Given the description of an element on the screen output the (x, y) to click on. 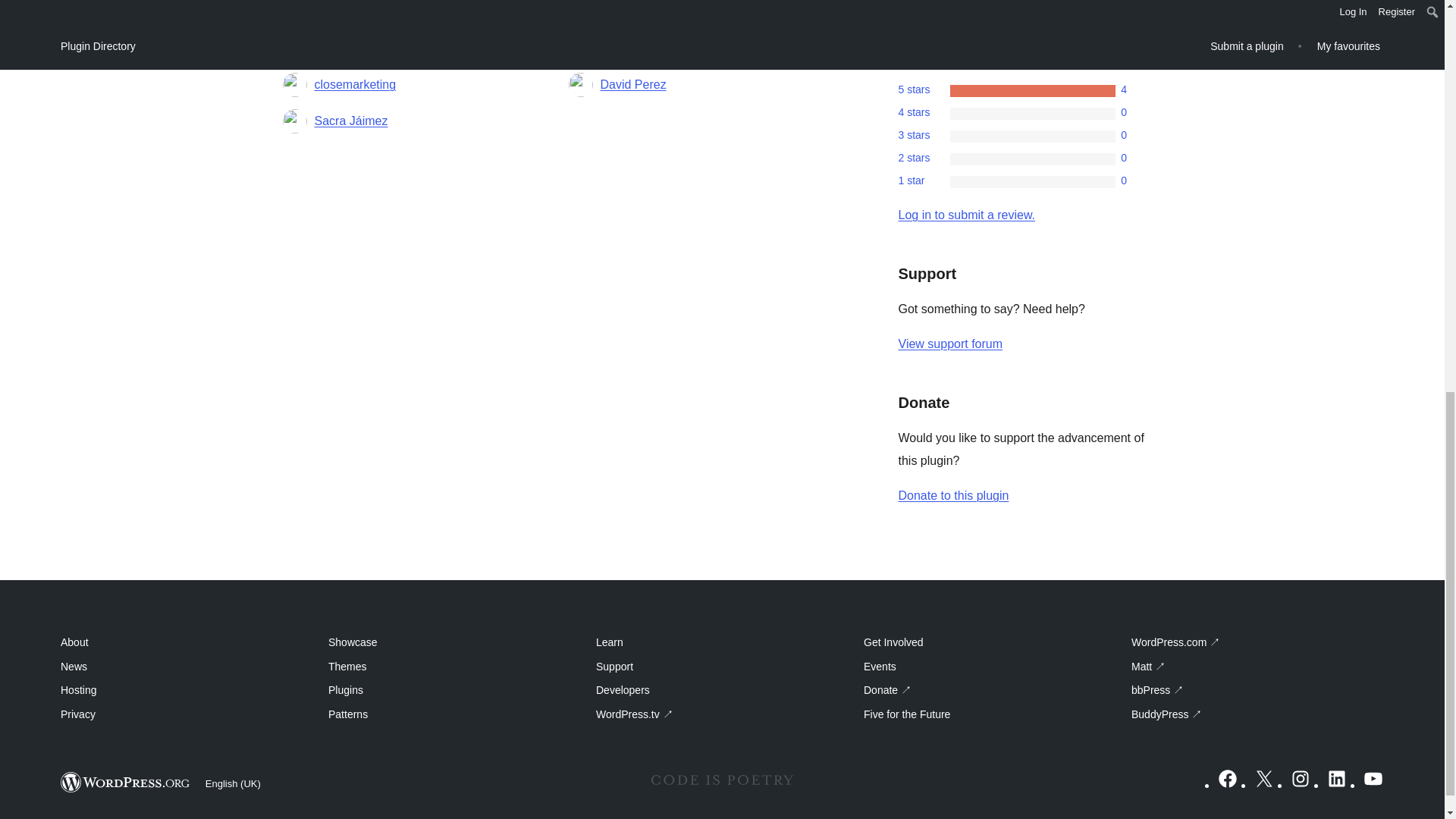
WordPress.org (125, 782)
Log in to WordPress.org (966, 214)
